Given the description of an element on the screen output the (x, y) to click on. 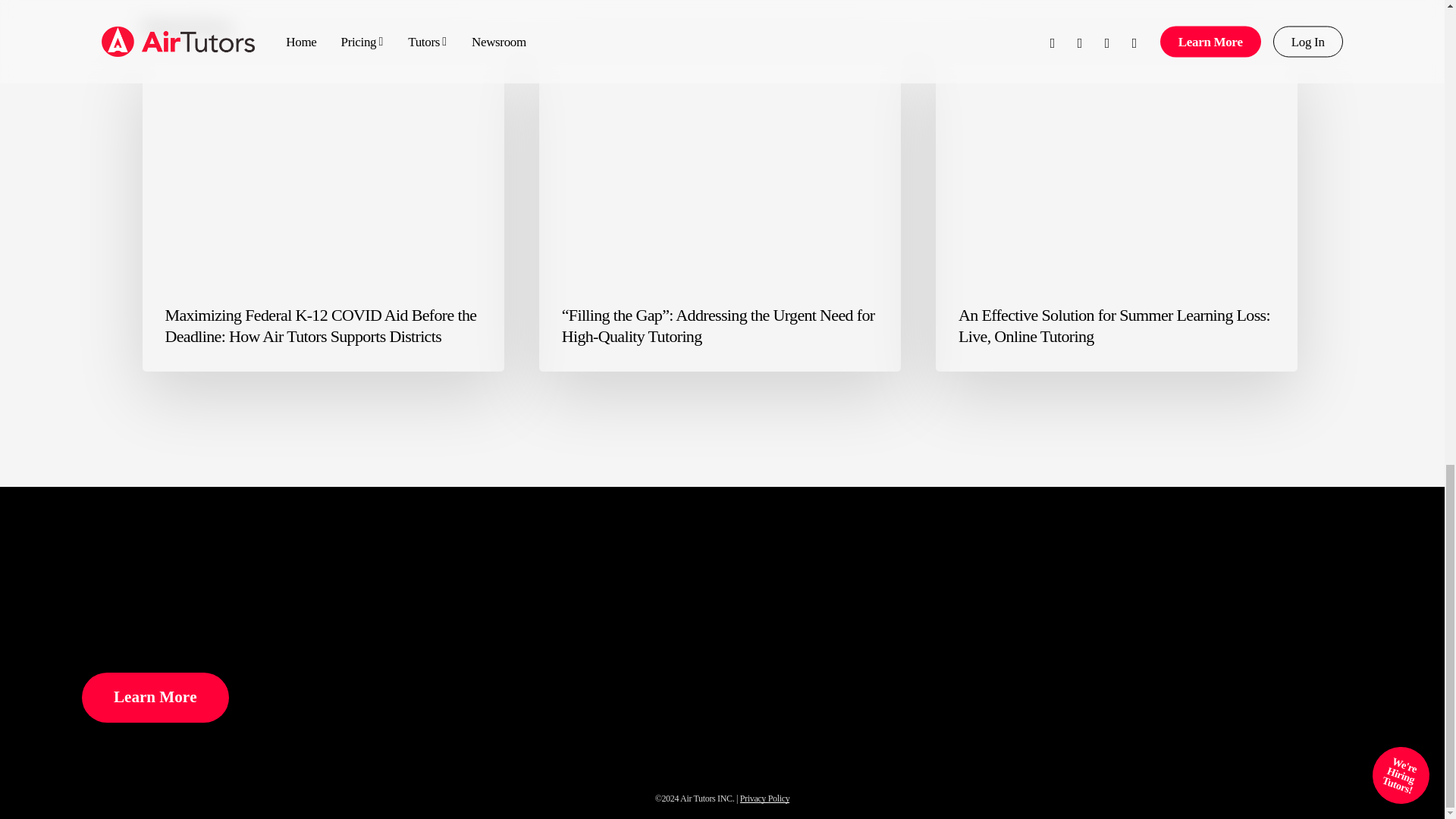
Learn More (154, 696)
